Given the description of an element on the screen output the (x, y) to click on. 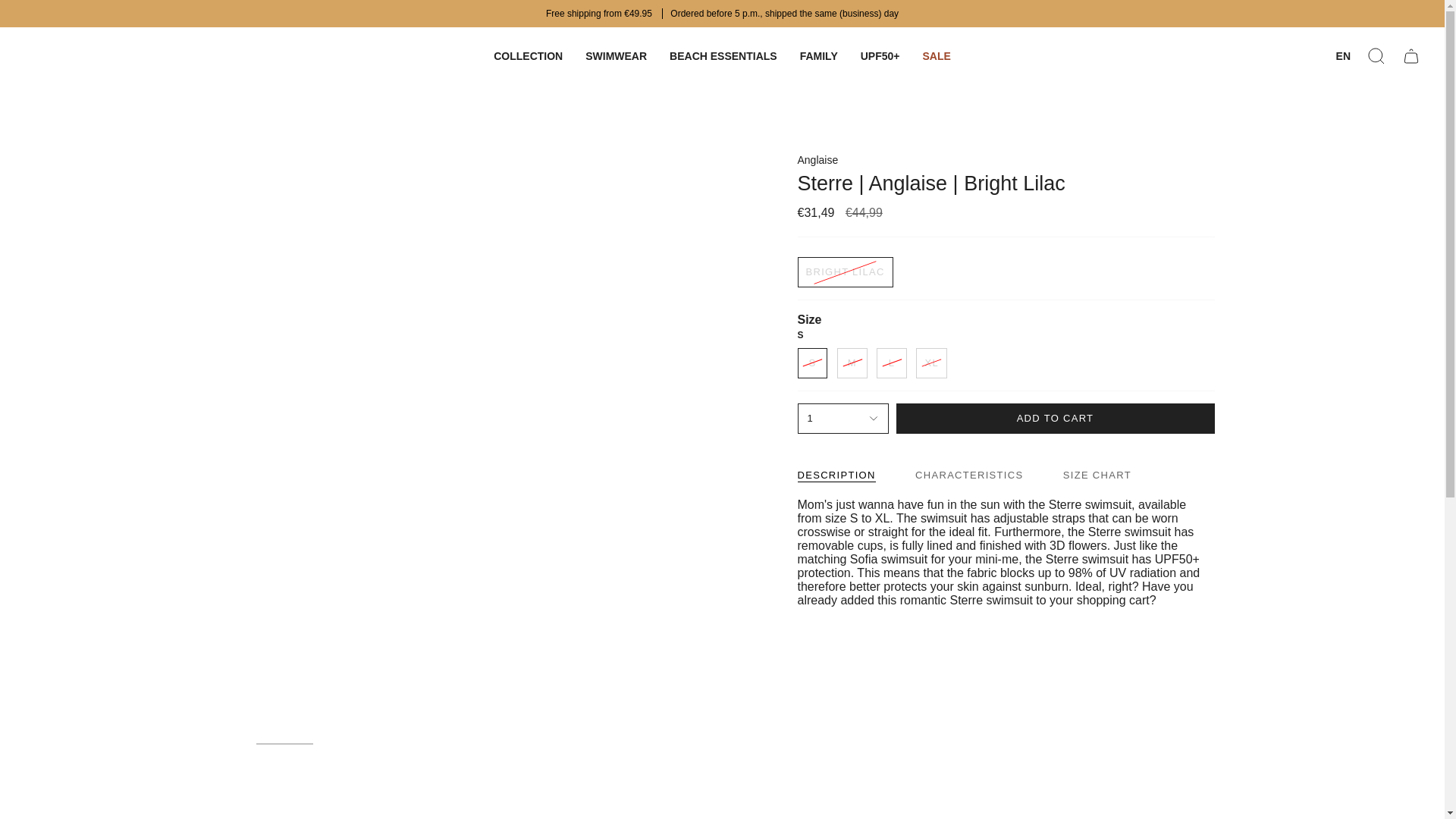
Search (1375, 56)
COLLECTION (527, 56)
Cart (1410, 56)
BEACH ESSENTIALS (723, 56)
SWIMWEAR (615, 56)
FAMILY (818, 56)
